Given the description of an element on the screen output the (x, y) to click on. 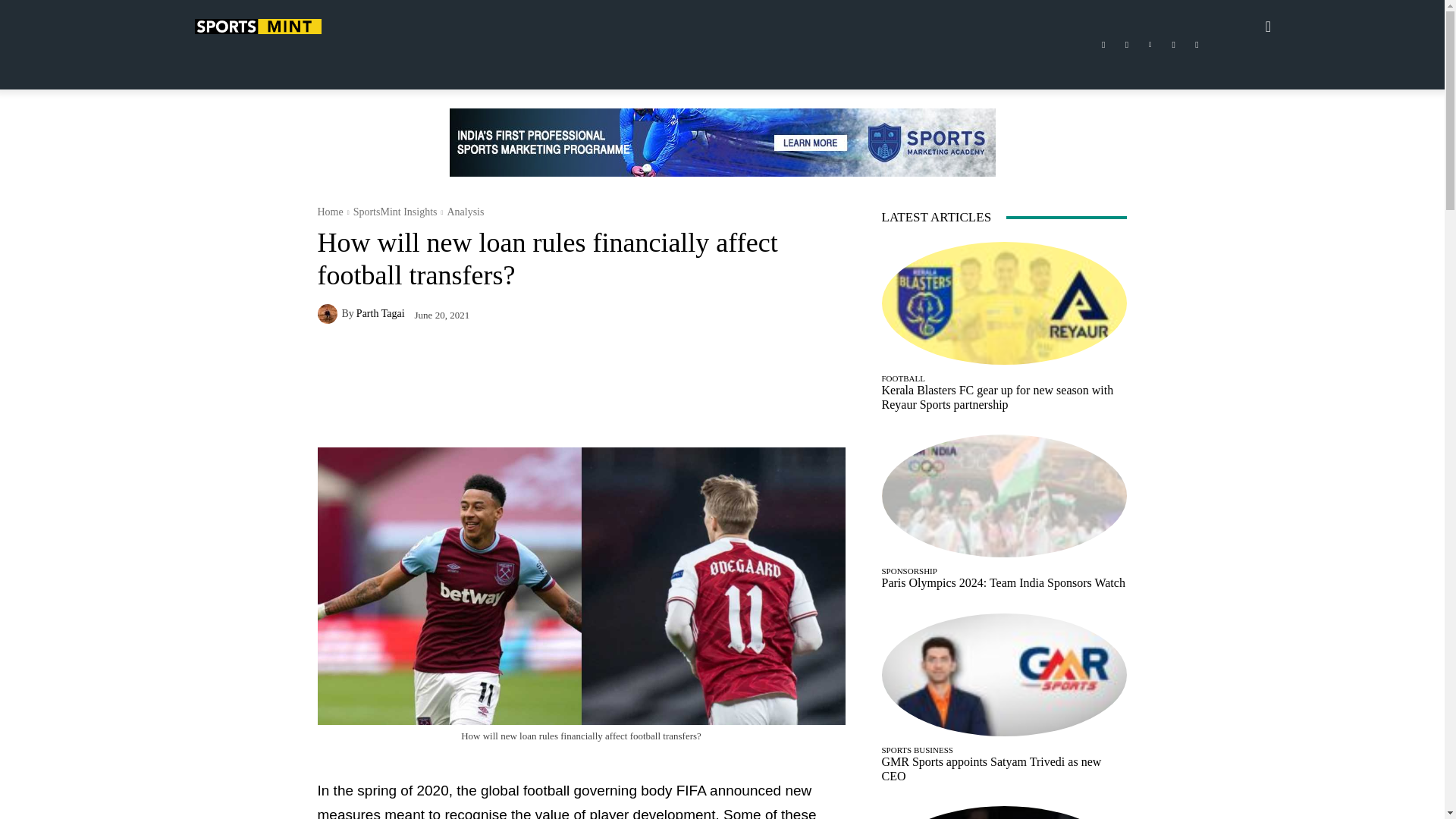
Linkedin (1149, 45)
Instagram (1126, 45)
Facebook (1103, 45)
SportsMint Media (256, 25)
Twitter (1173, 45)
